Given the description of an element on the screen output the (x, y) to click on. 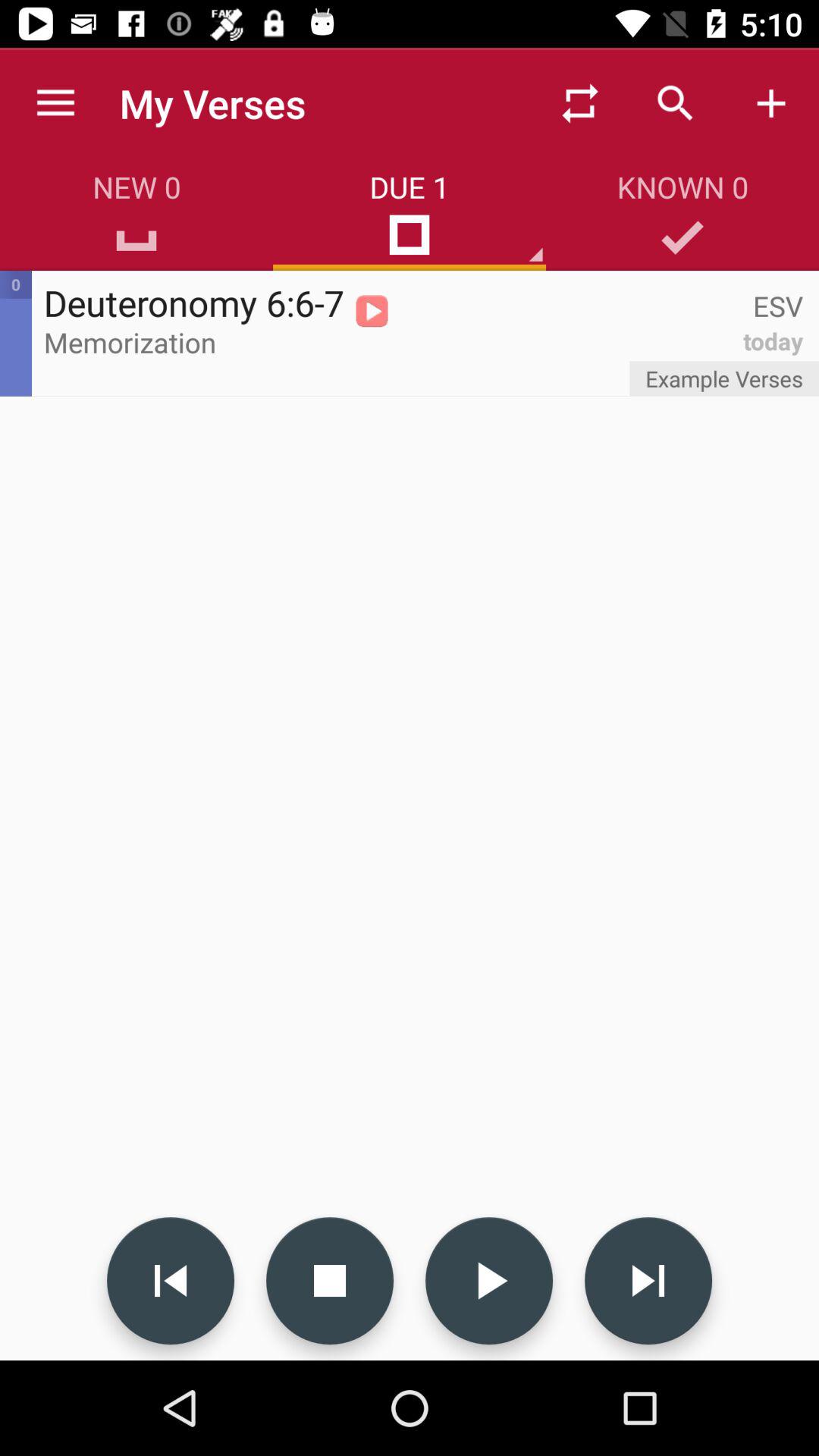
jump ahead (648, 1280)
